Given the description of an element on the screen output the (x, y) to click on. 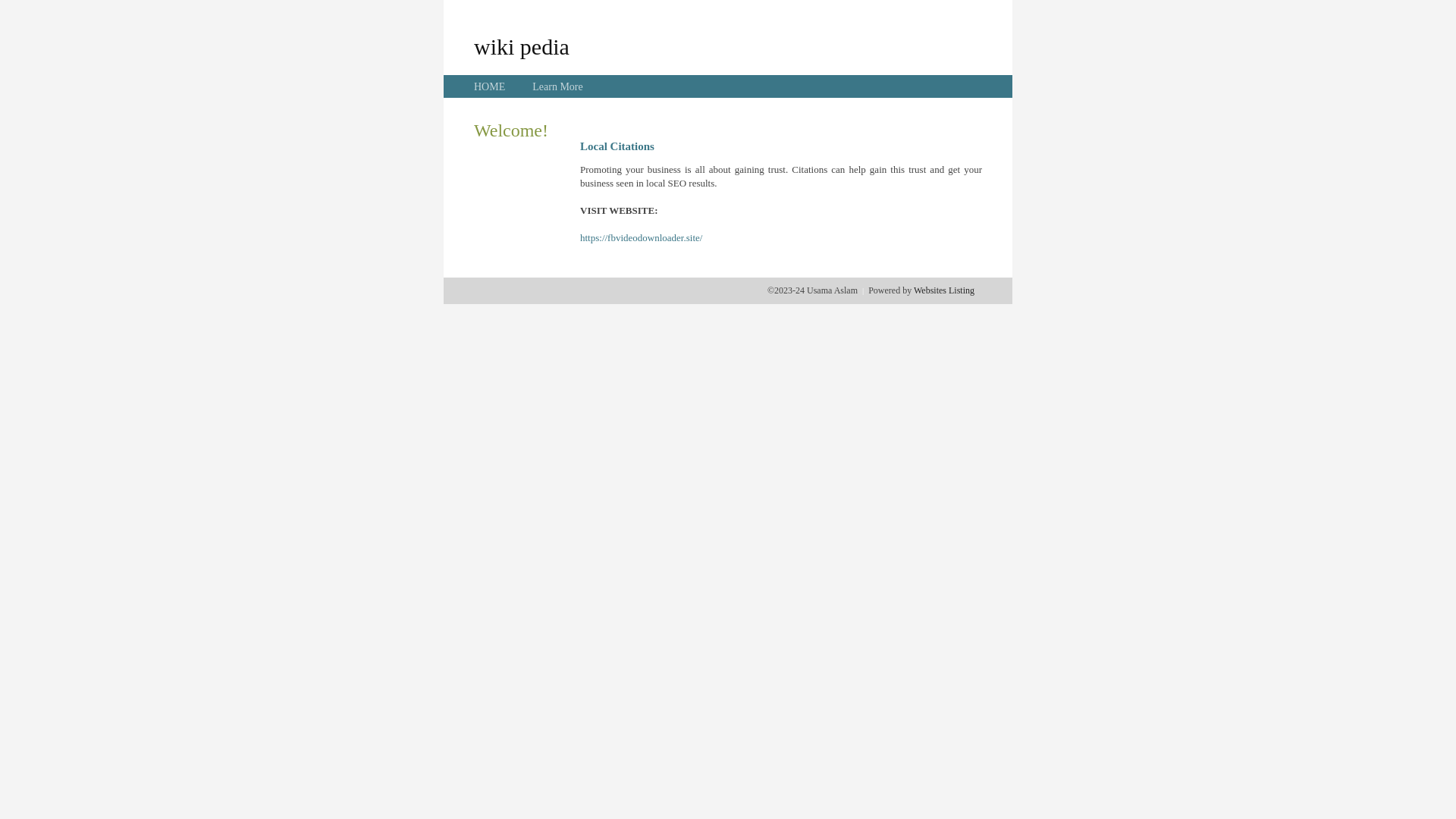
Learn More Element type: text (557, 86)
Websites Listing Element type: text (943, 290)
wiki pedia Element type: text (521, 46)
HOME Element type: text (489, 86)
https://fbvideodownloader.site/ Element type: text (641, 237)
